Given the description of an element on the screen output the (x, y) to click on. 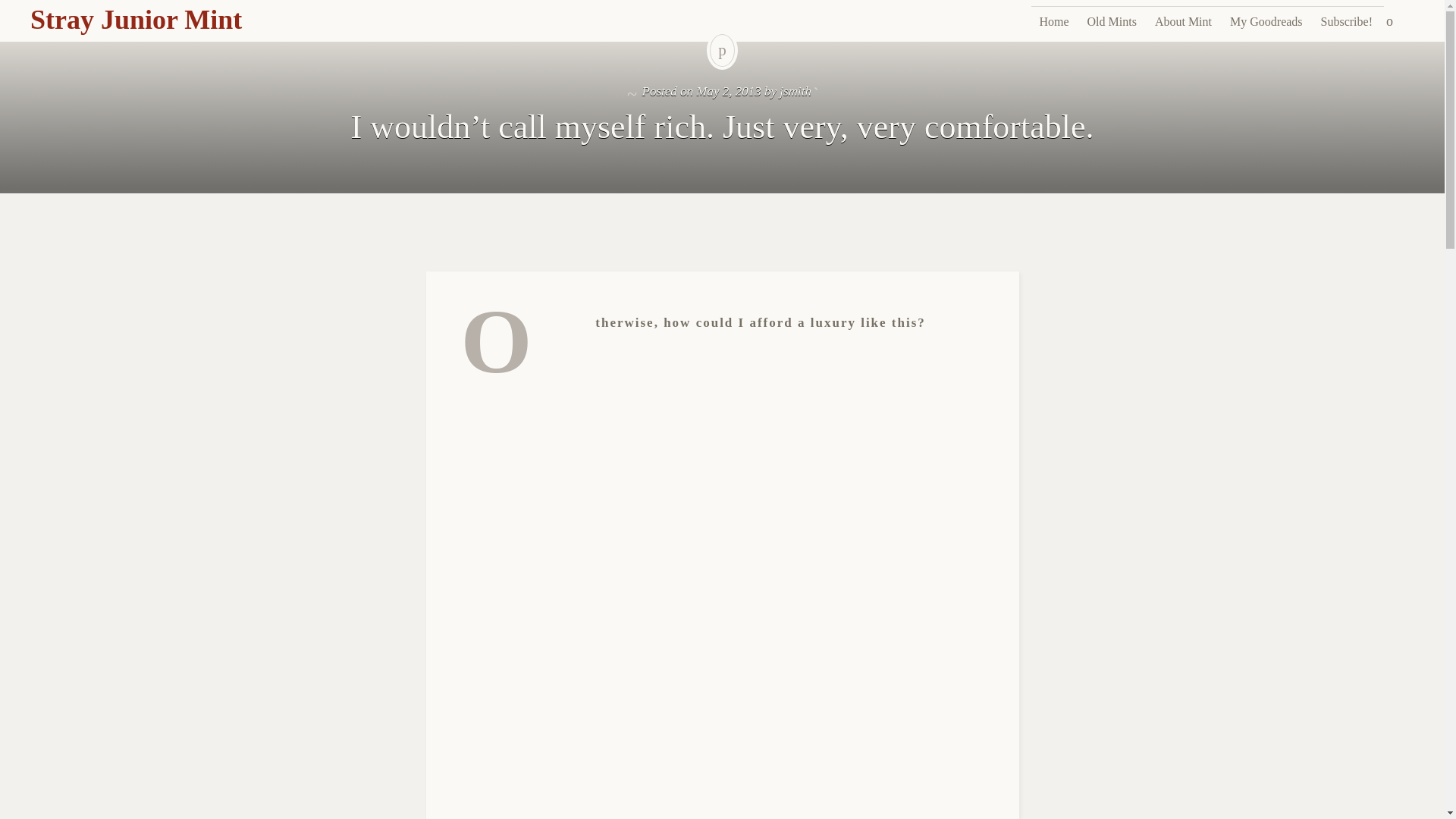
May 2, 2013 (727, 91)
Search (11, 9)
Stray Junior Mint (135, 19)
jsmith (794, 91)
About Mint (1183, 22)
Stray Junior Mint (135, 19)
Old Mints (1112, 22)
Subscribe! (1346, 22)
Home (1052, 22)
My Goodreads (1266, 22)
